Given the description of an element on the screen output the (x, y) to click on. 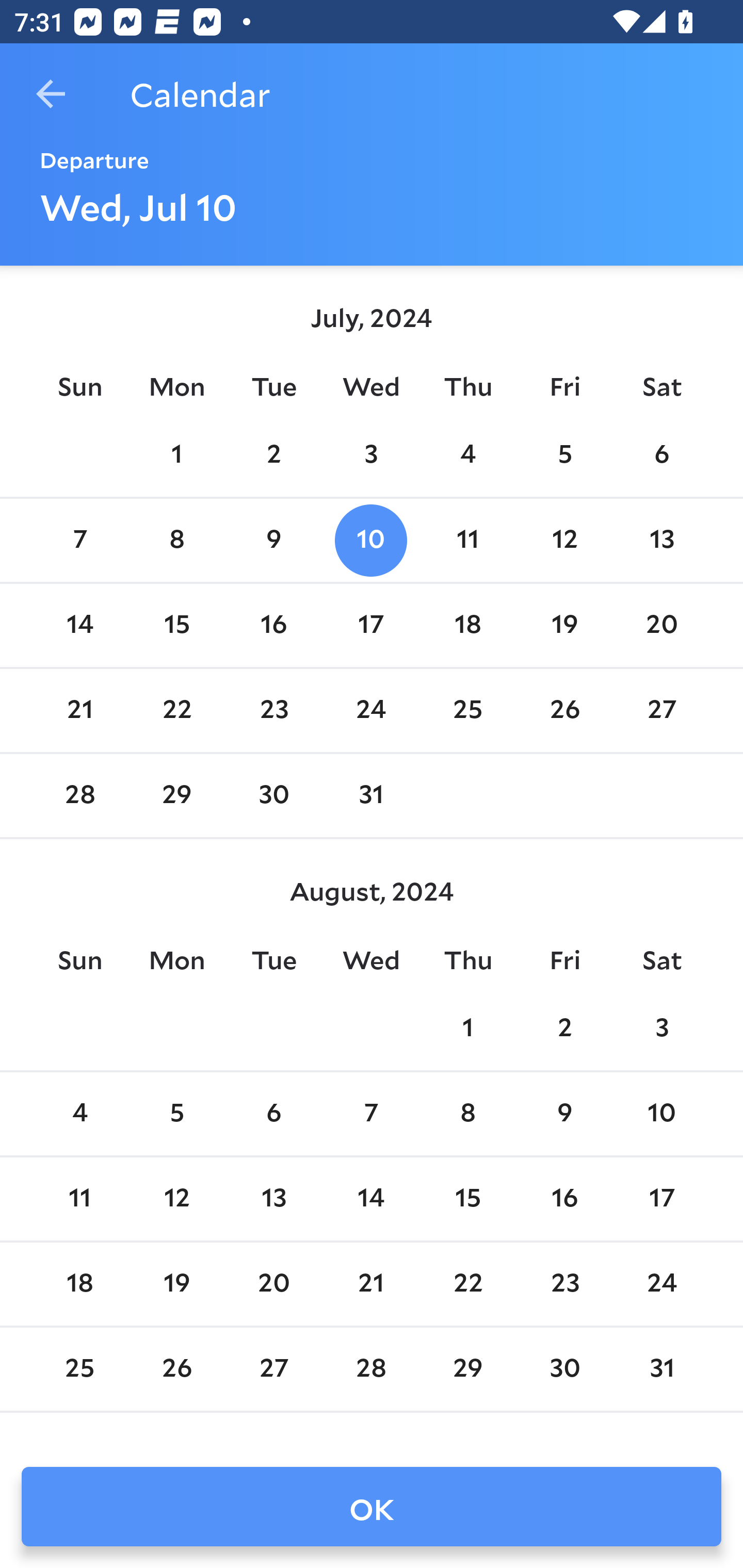
Navigate up (50, 93)
1 (177, 454)
2 (273, 454)
3 (371, 454)
4 (467, 454)
5 (565, 454)
6 (661, 454)
7 (79, 540)
8 (177, 540)
9 (273, 540)
10 (371, 540)
11 (467, 540)
12 (565, 540)
13 (661, 540)
14 (79, 625)
15 (177, 625)
16 (273, 625)
17 (371, 625)
18 (467, 625)
19 (565, 625)
20 (661, 625)
21 (79, 710)
22 (177, 710)
23 (273, 710)
24 (371, 710)
25 (467, 710)
26 (565, 710)
27 (661, 710)
28 (79, 796)
29 (177, 796)
30 (273, 796)
31 (371, 796)
1 (467, 1028)
2 (565, 1028)
3 (661, 1028)
4 (79, 1114)
5 (177, 1114)
6 (273, 1114)
7 (371, 1114)
8 (467, 1114)
9 (565, 1114)
10 (661, 1114)
11 (79, 1199)
12 (177, 1199)
13 (273, 1199)
14 (371, 1199)
15 (467, 1199)
16 (565, 1199)
17 (661, 1199)
18 (79, 1284)
